Given the description of an element on the screen output the (x, y) to click on. 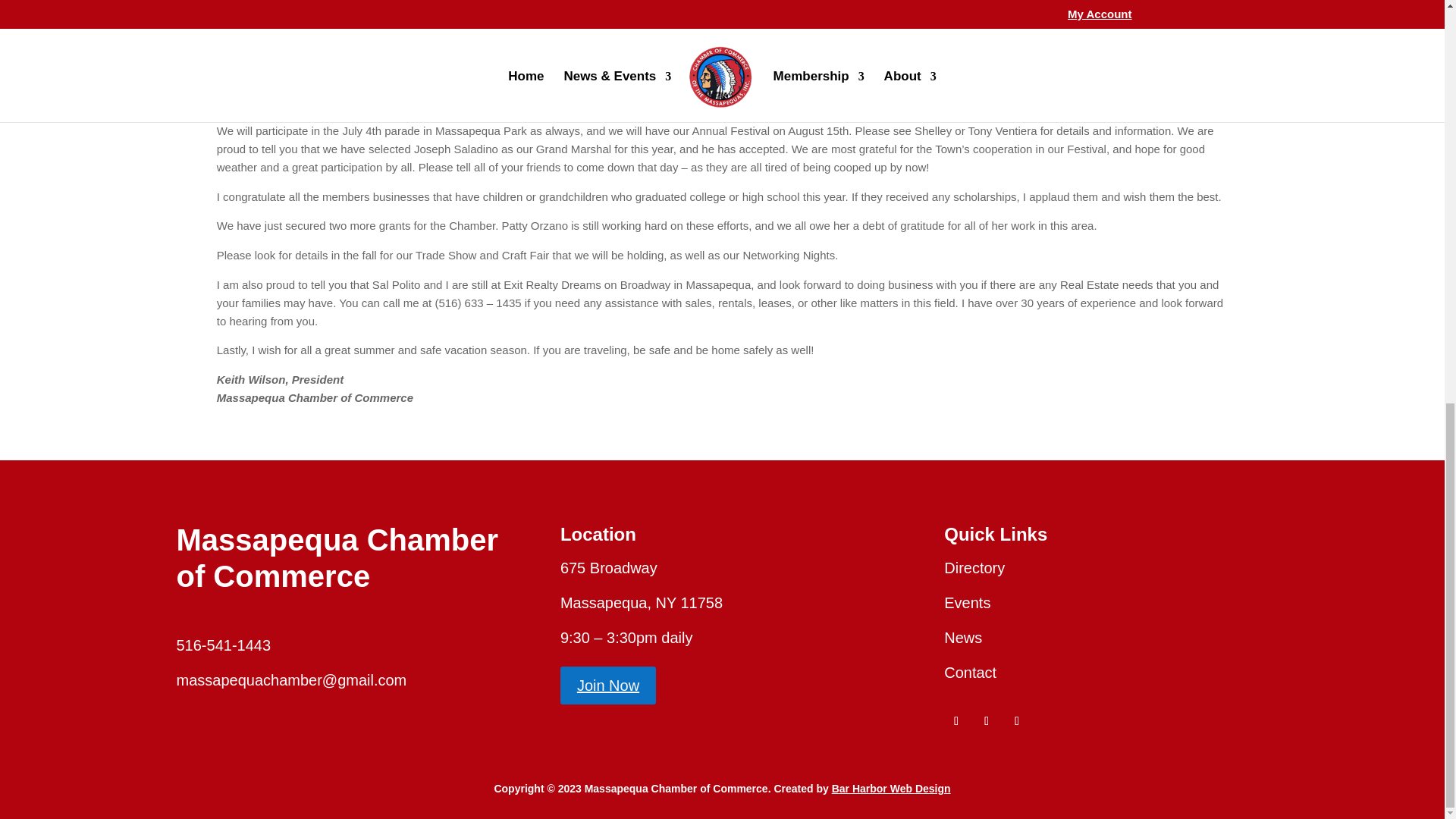
Follow on Instagram (986, 721)
Join Now (608, 685)
Follow on Facebook (955, 721)
Follow on LinkedIn (1016, 721)
